Given the description of an element on the screen output the (x, y) to click on. 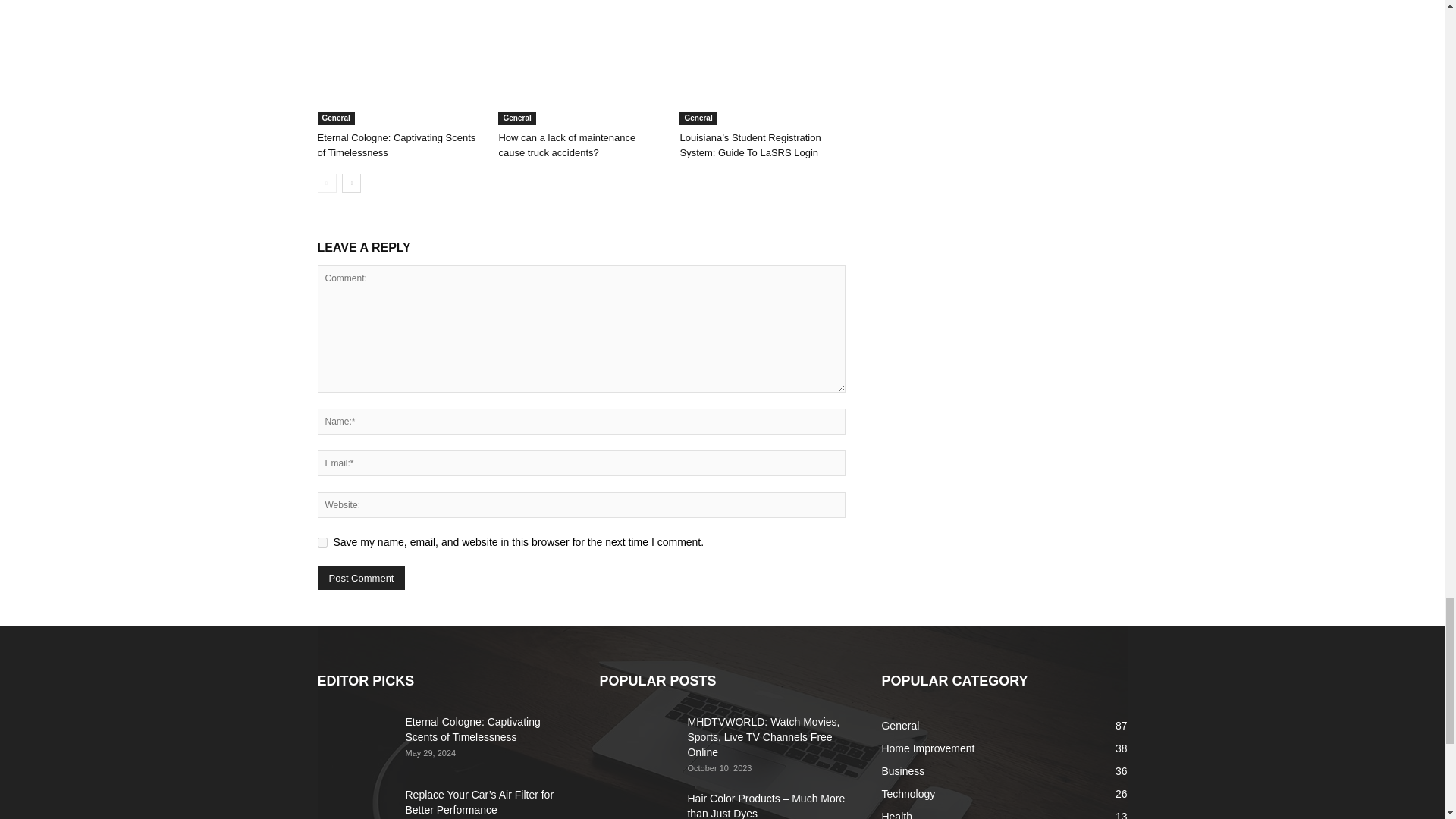
How can a lack of maintenance cause truck accidents? (580, 68)
Eternal Cologne: Captivating Scents of Timelessness (399, 68)
Post Comment (360, 577)
Eternal Cologne: Captivating Scents of Timelessness (396, 144)
yes (321, 542)
How can a lack of maintenance cause truck accidents? (565, 144)
